Given the description of an element on the screen output the (x, y) to click on. 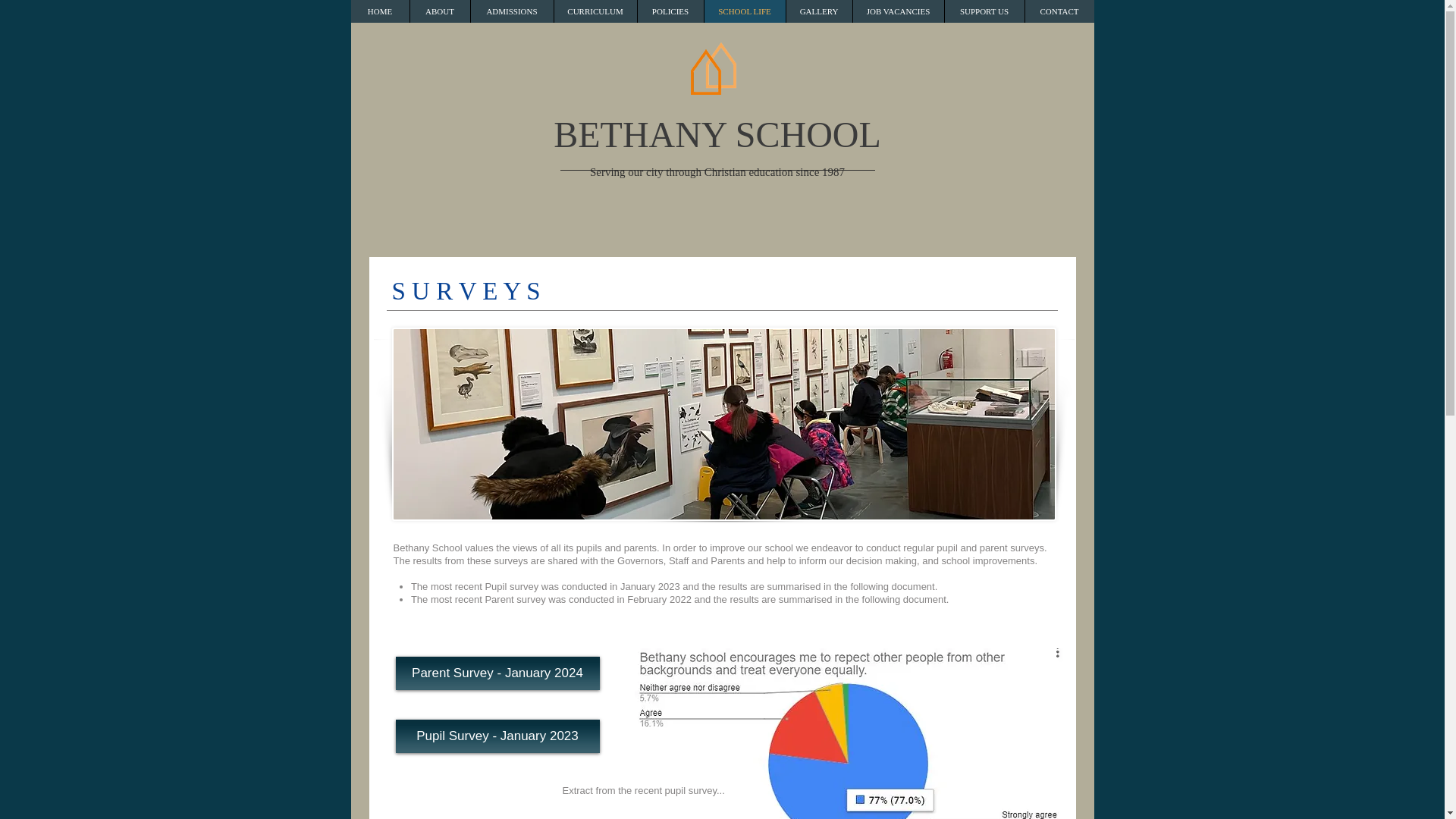
JOB VACANCIES (897, 11)
POLICIES (670, 11)
CURRICULUM (595, 11)
ADMISSIONS (511, 11)
SCHOOL LIFE (744, 11)
HOME (379, 11)
GALLERY (818, 11)
SUPPORT US (983, 11)
ABOUT (439, 11)
Parent Survey - January 2024 (497, 673)
